Given the description of an element on the screen output the (x, y) to click on. 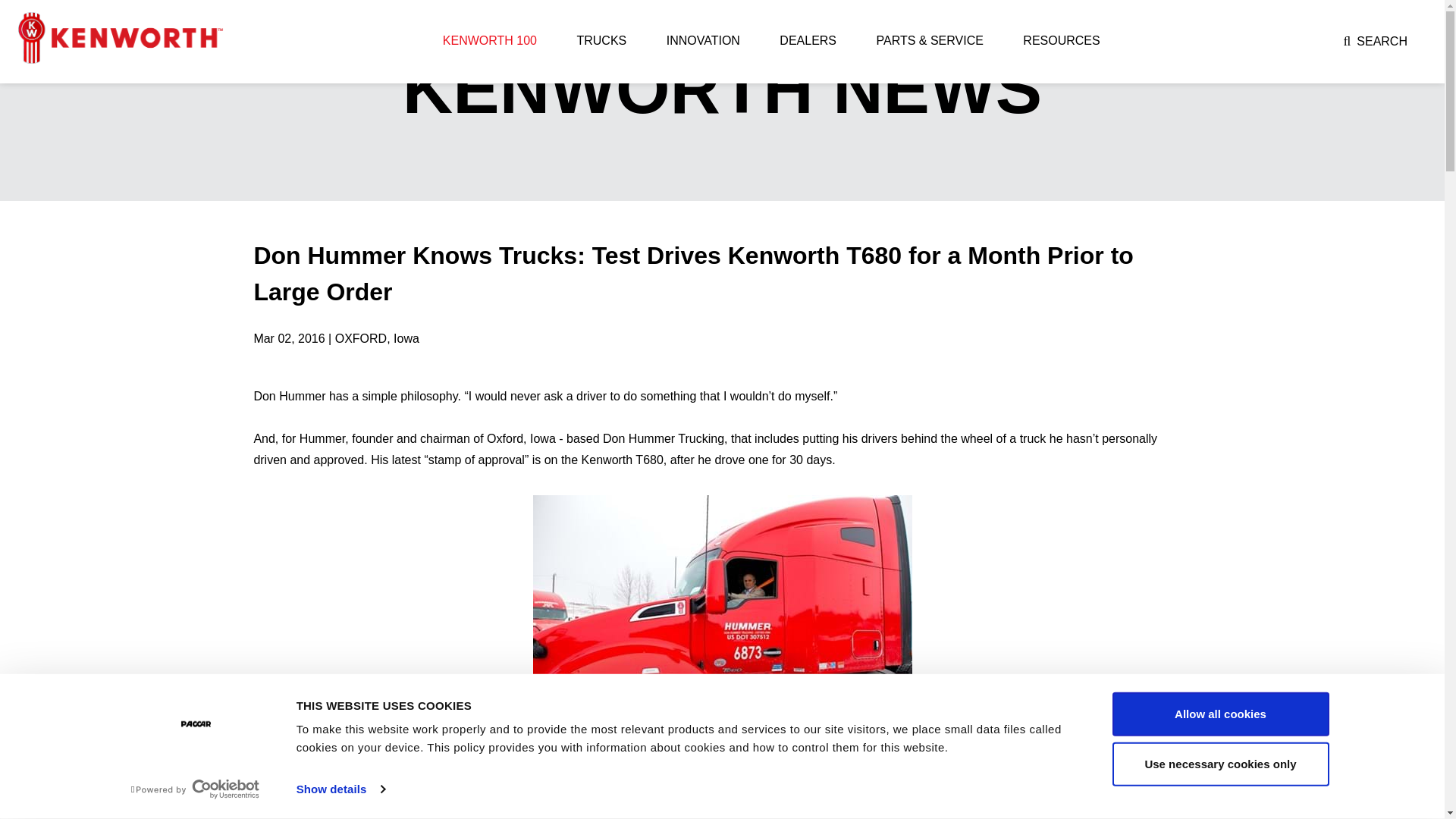
Show details (340, 789)
